Given the description of an element on the screen output the (x, y) to click on. 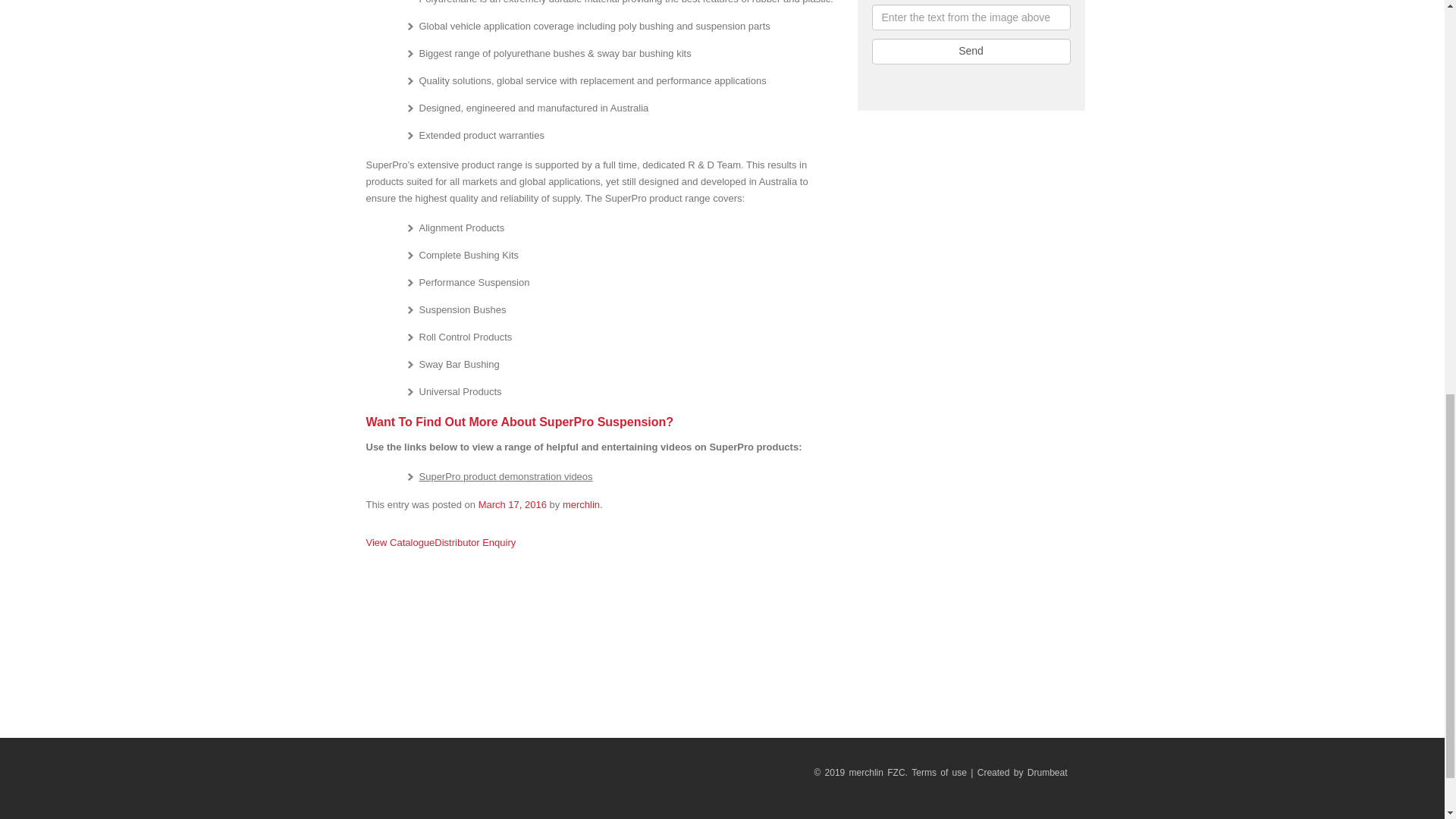
Send (971, 51)
